Given the description of an element on the screen output the (x, y) to click on. 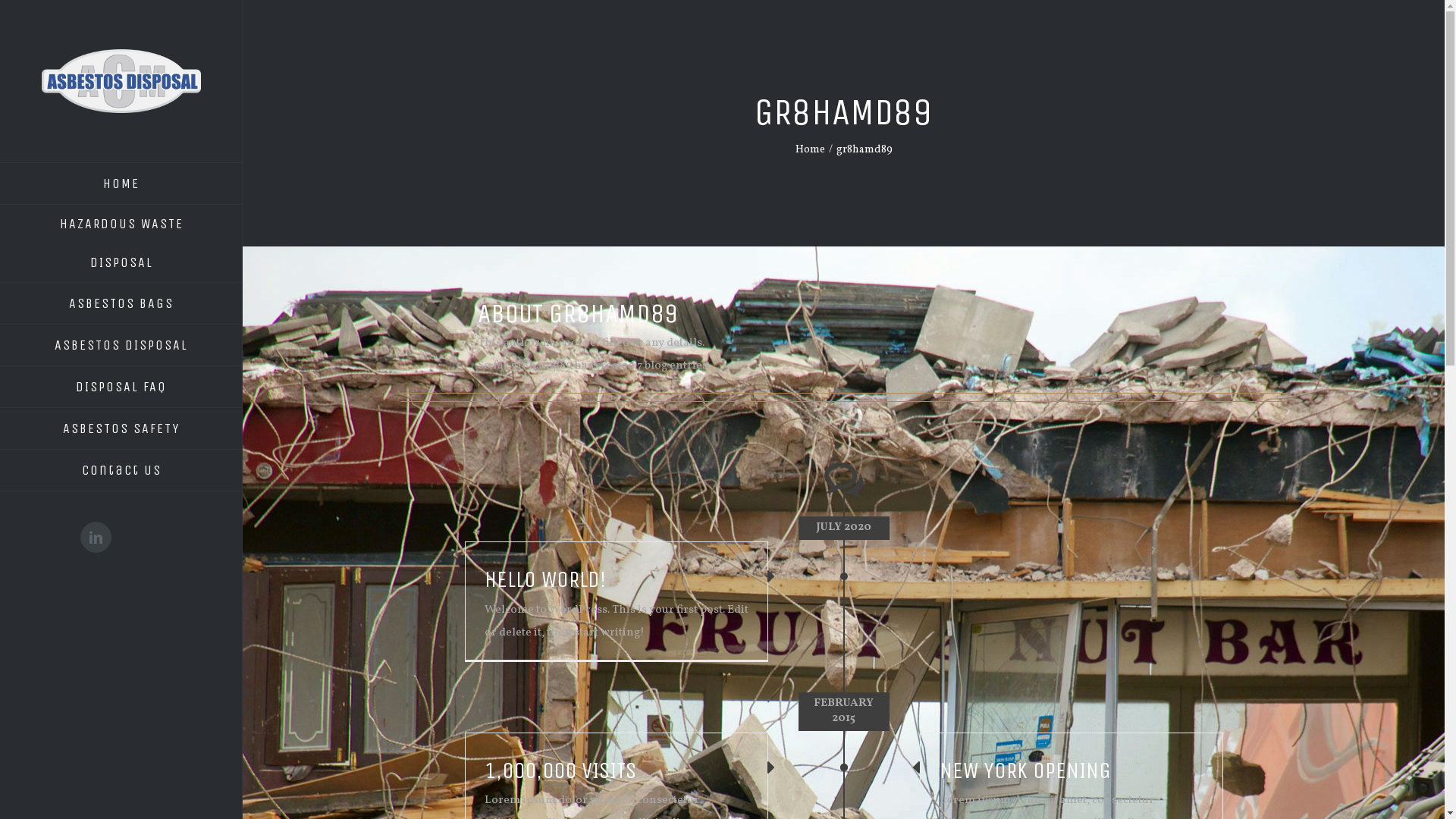
ASBESTOS BAGS Element type: text (121, 303)
ASBESTOS DISPOSAL Element type: text (121, 345)
ASBESTOS SAFETY Element type: text (121, 428)
HAZARDOUS WASTE DISPOSAL Element type: text (121, 243)
Home Element type: text (809, 149)
LinkedIn Element type: text (95, 536)
1,000,000 VISITS Element type: text (559, 770)
NEW YORK OPENING Element type: text (1024, 770)
DISPOSAL FAQ Element type: text (121, 386)
HELLO WORLD! Element type: text (544, 579)
Contact Us Element type: text (121, 470)
HOME Element type: text (121, 183)
